Given the description of an element on the screen output the (x, y) to click on. 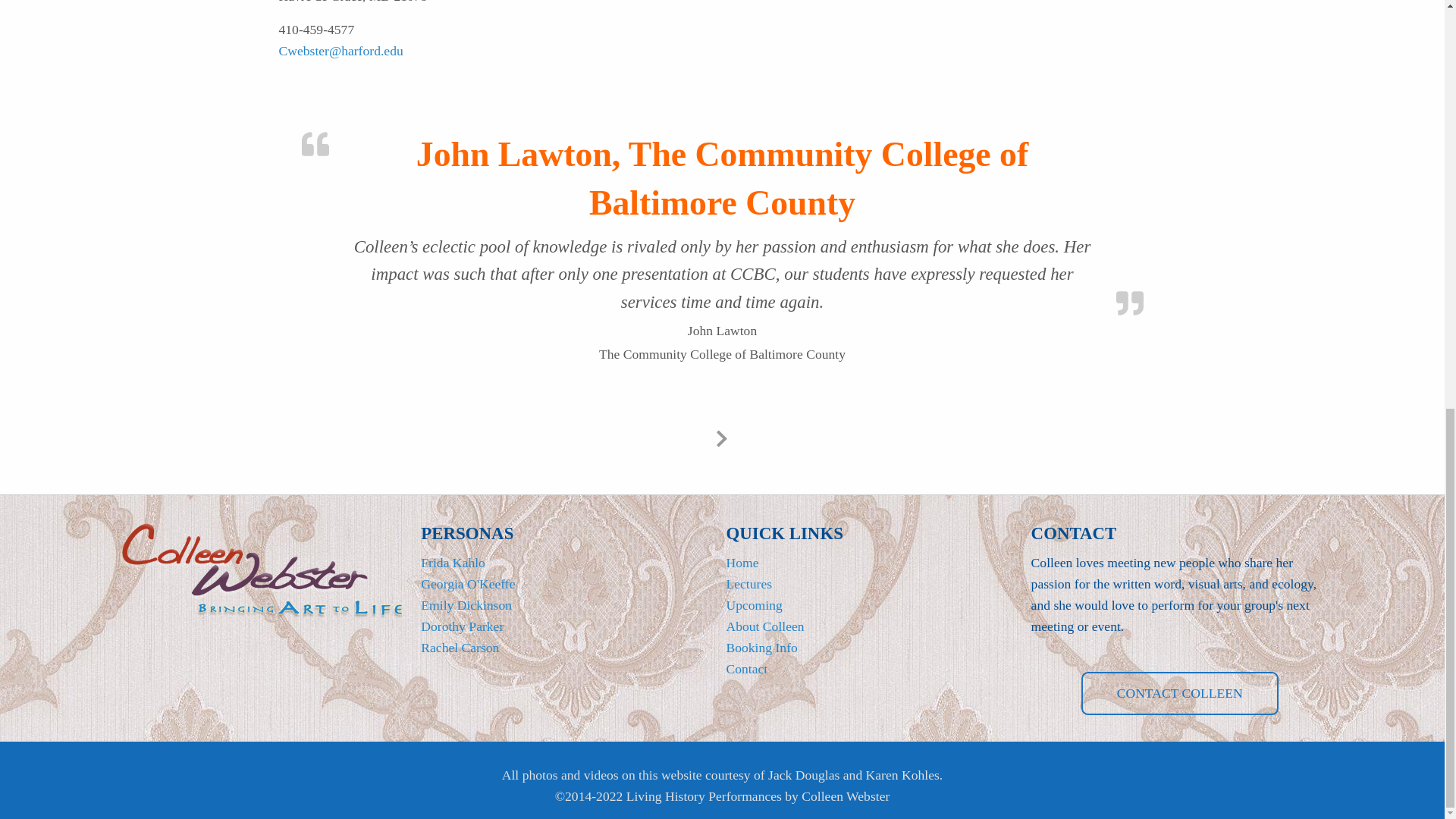
Emily Dickinson (466, 604)
Georgia O'Keeffe (467, 583)
Dorothy Parker (461, 626)
Upcoming (753, 604)
Booking Info (760, 647)
About Colleen (764, 626)
Lectures (748, 583)
Contact (746, 668)
Home (741, 562)
Rachel Carson (459, 647)
Next Slide (721, 435)
CONTACT COLLEEN (1179, 692)
Frida Kahlo (452, 562)
